Given the description of an element on the screen output the (x, y) to click on. 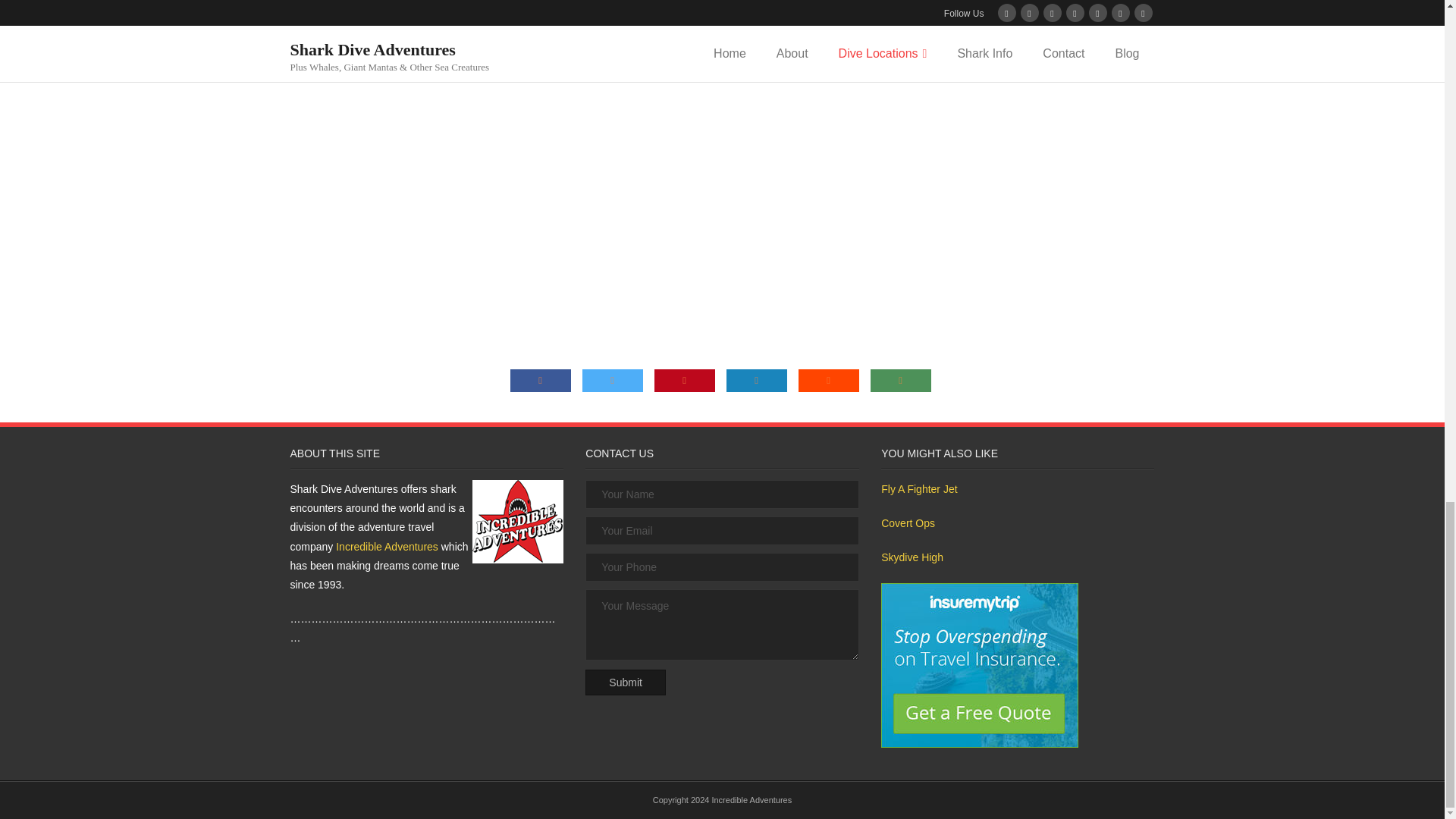
Submit (625, 682)
Travel Insurance (979, 665)
